Given the description of an element on the screen output the (x, y) to click on. 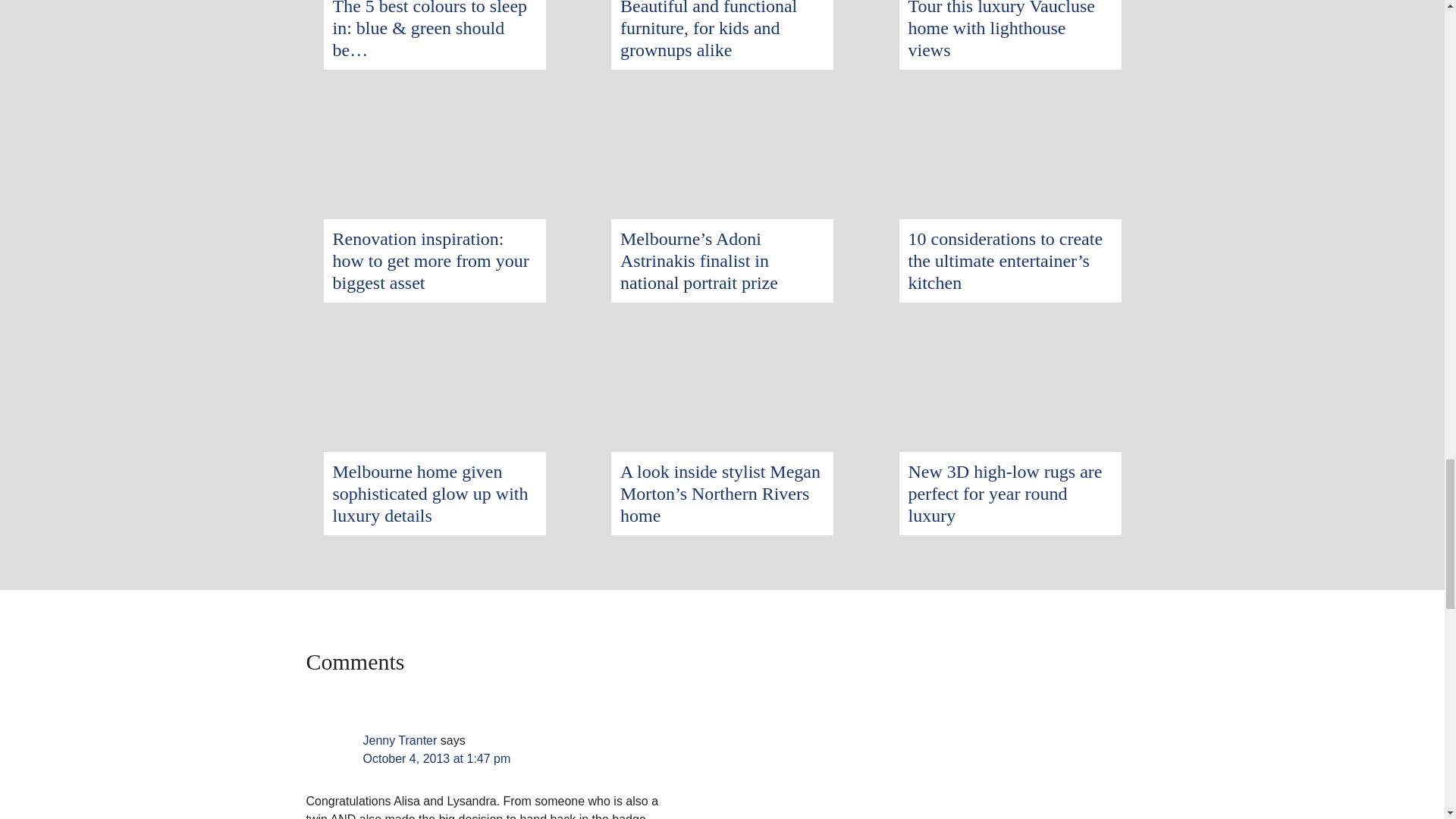
Tour this luxury Vaucluse home with lighthouse views (1002, 29)
